Given the description of an element on the screen output the (x, y) to click on. 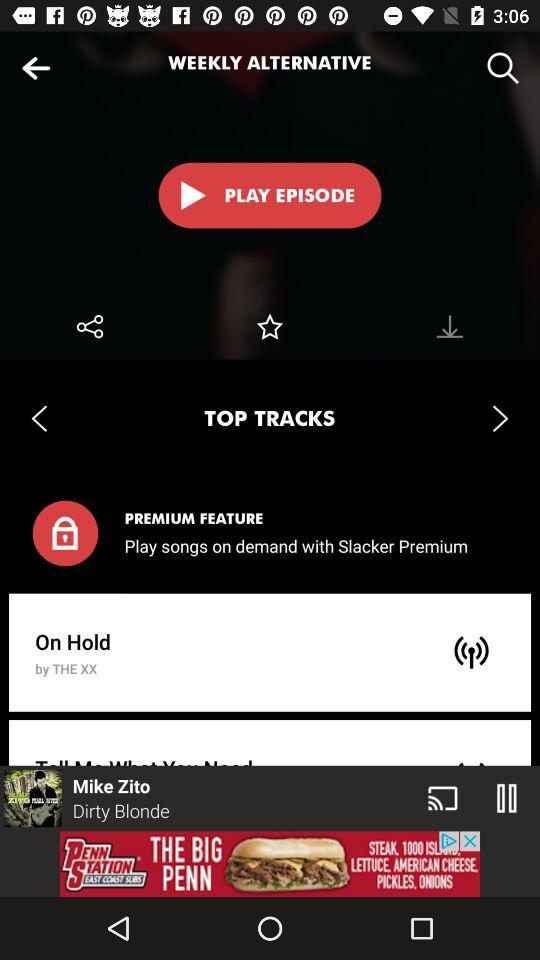
advertisement (270, 864)
